Given the description of an element on the screen output the (x, y) to click on. 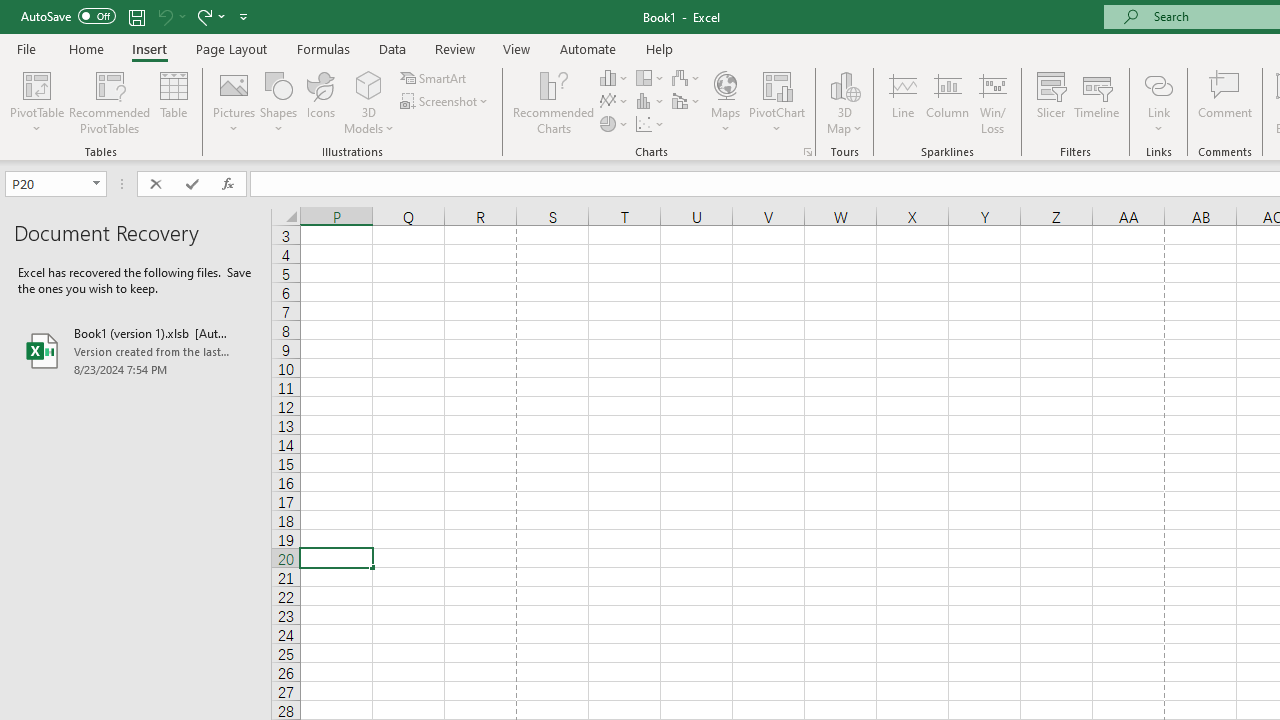
Insert Statistic Chart (651, 101)
PivotChart (777, 102)
Link (1158, 102)
Pictures (234, 102)
Slicer... (1051, 102)
Link (1158, 84)
